Given the description of an element on the screen output the (x, y) to click on. 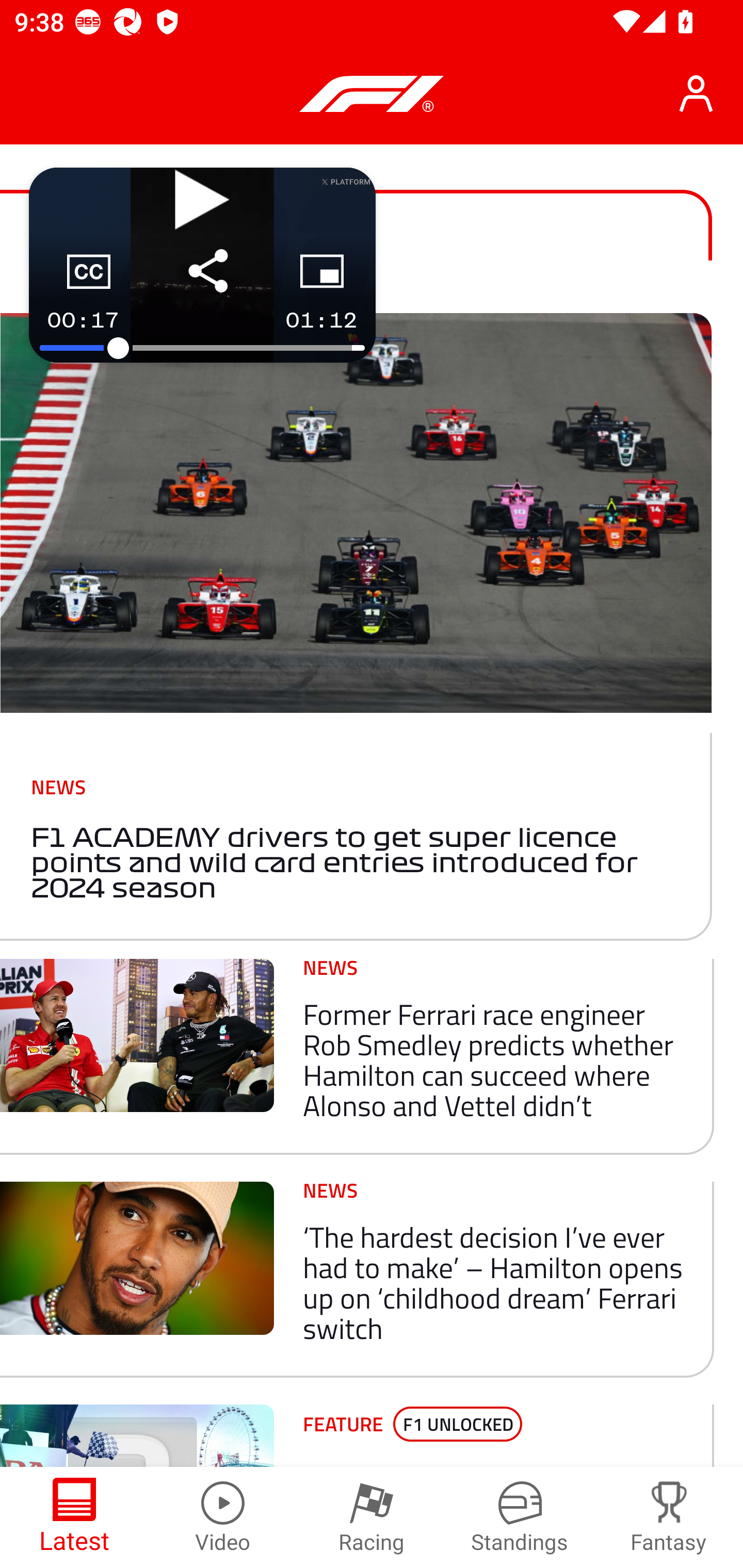
Video (222, 1517)
Racing (371, 1517)
Standings (519, 1517)
Fantasy (668, 1517)
